Given the description of an element on the screen output the (x, y) to click on. 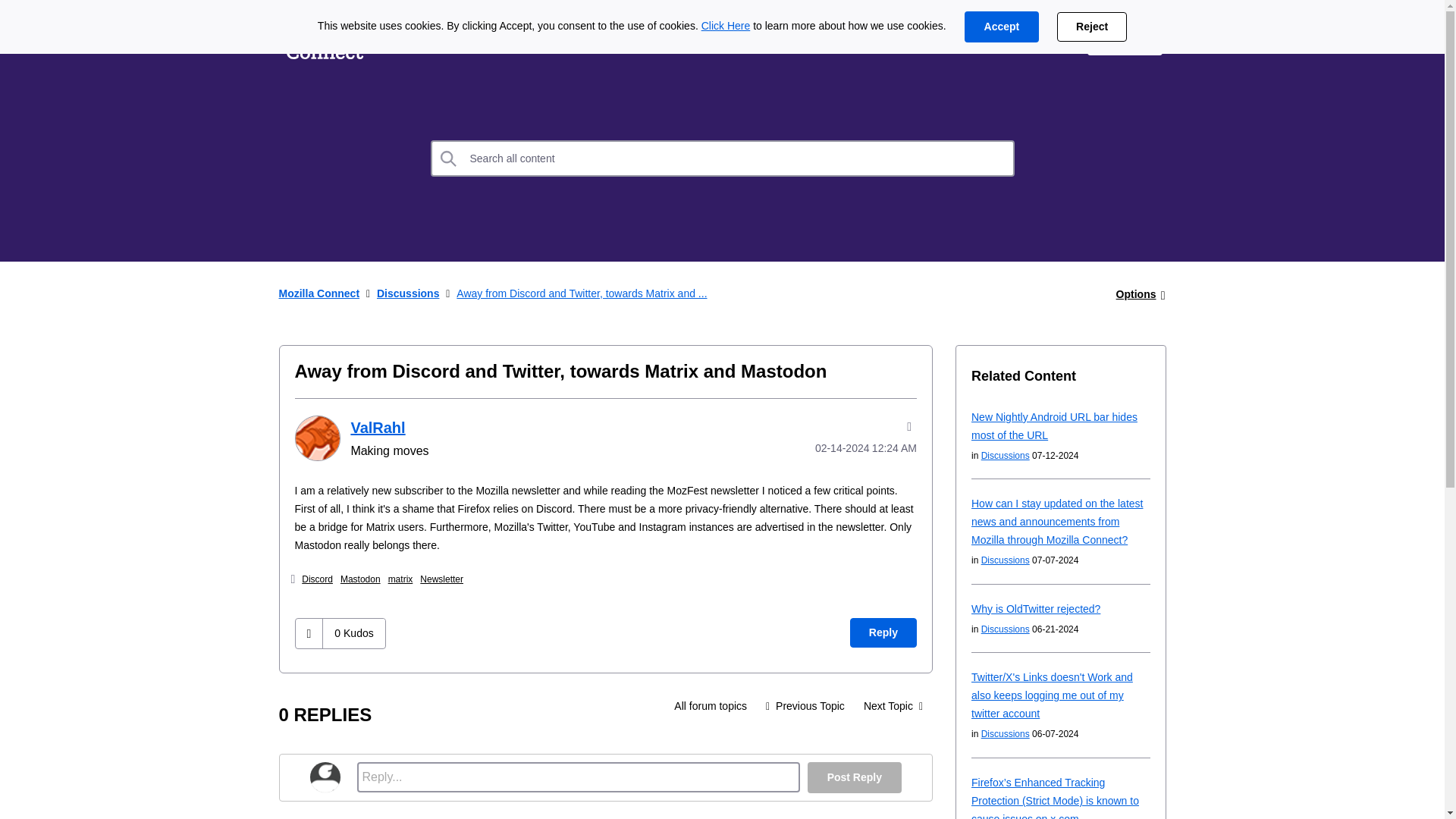
Mozilla Connect (319, 293)
Newsletter (441, 579)
Support (1040, 39)
Options (1136, 294)
The total number of kudos this post has received. (353, 633)
Discussions (408, 293)
Mastodon (360, 579)
Discussions (710, 705)
Mozilla Connect (324, 39)
matrix (400, 579)
Search (448, 158)
ValRahl (377, 427)
Search (448, 158)
All forum topics (710, 705)
Reject (1091, 26)
